Given the description of an element on the screen output the (x, y) to click on. 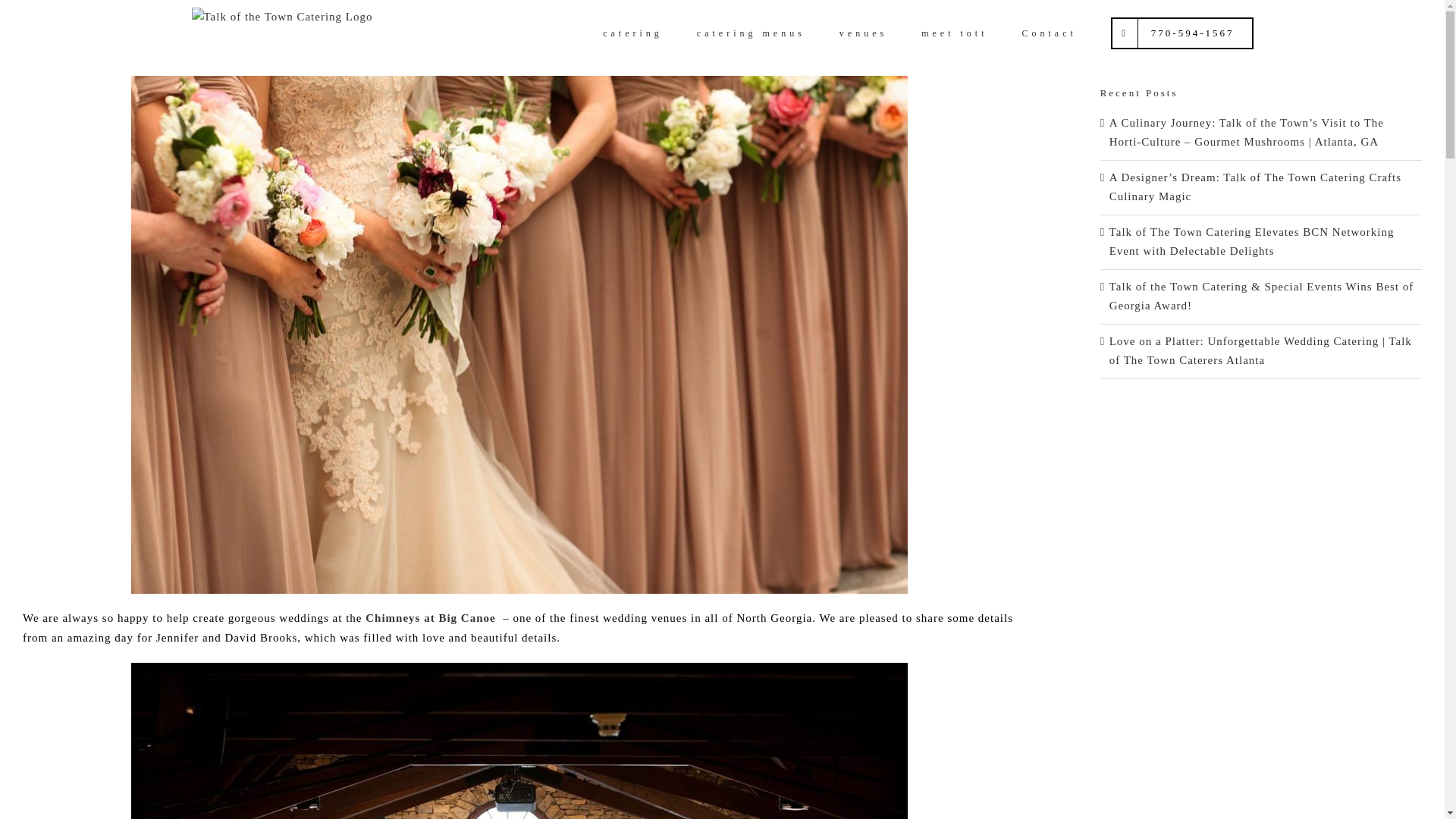
catering menus (751, 31)
catering (632, 31)
770-594-1567 (1181, 31)
meet tott (954, 31)
